Given the description of an element on the screen output the (x, y) to click on. 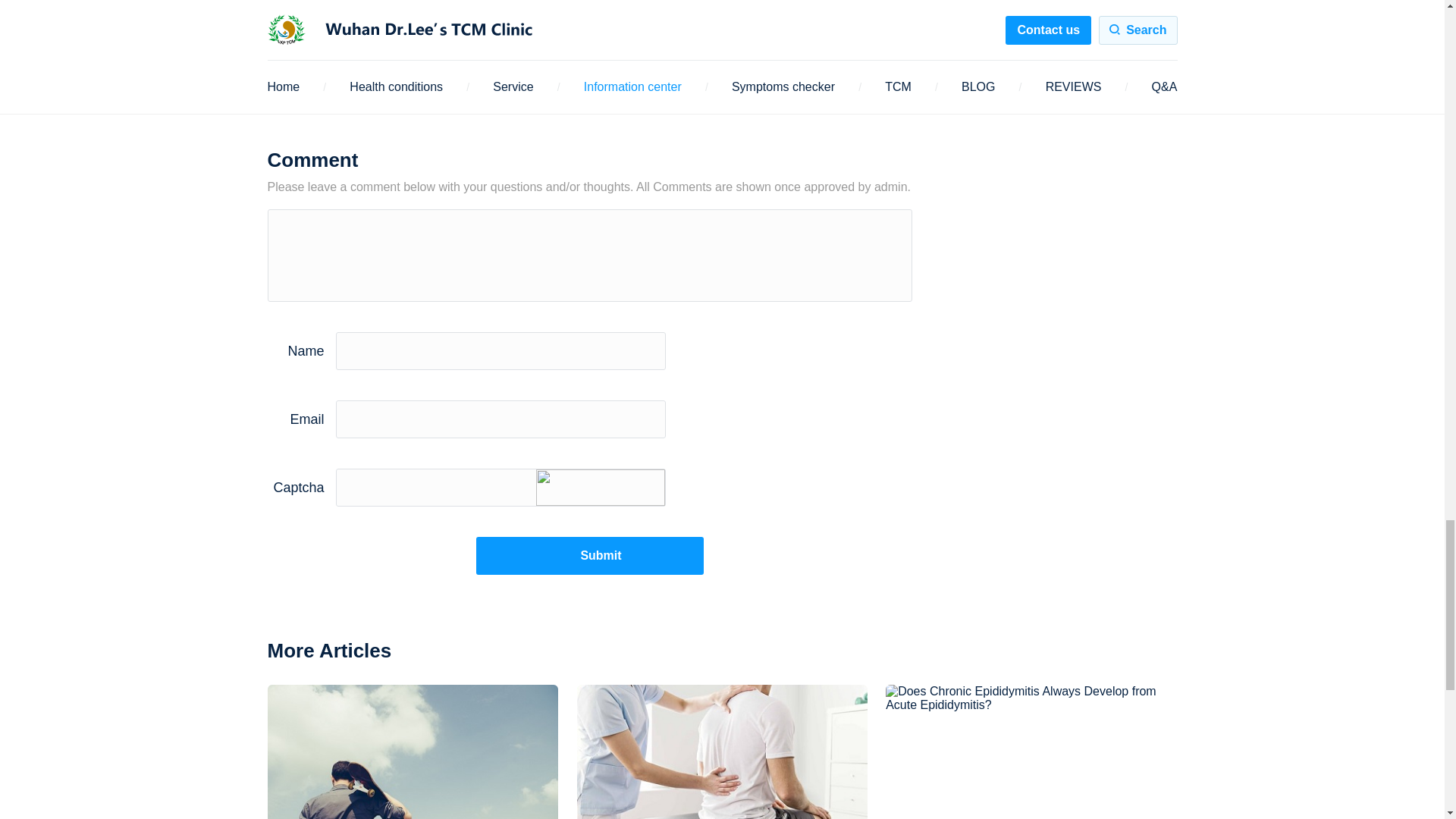
Can Epididymitis Lead to Testicular Necrosis? (412, 751)
Is It Difficult to Cure Epididymitis With Hard Lumps? (721, 751)
